Given the description of an element on the screen output the (x, y) to click on. 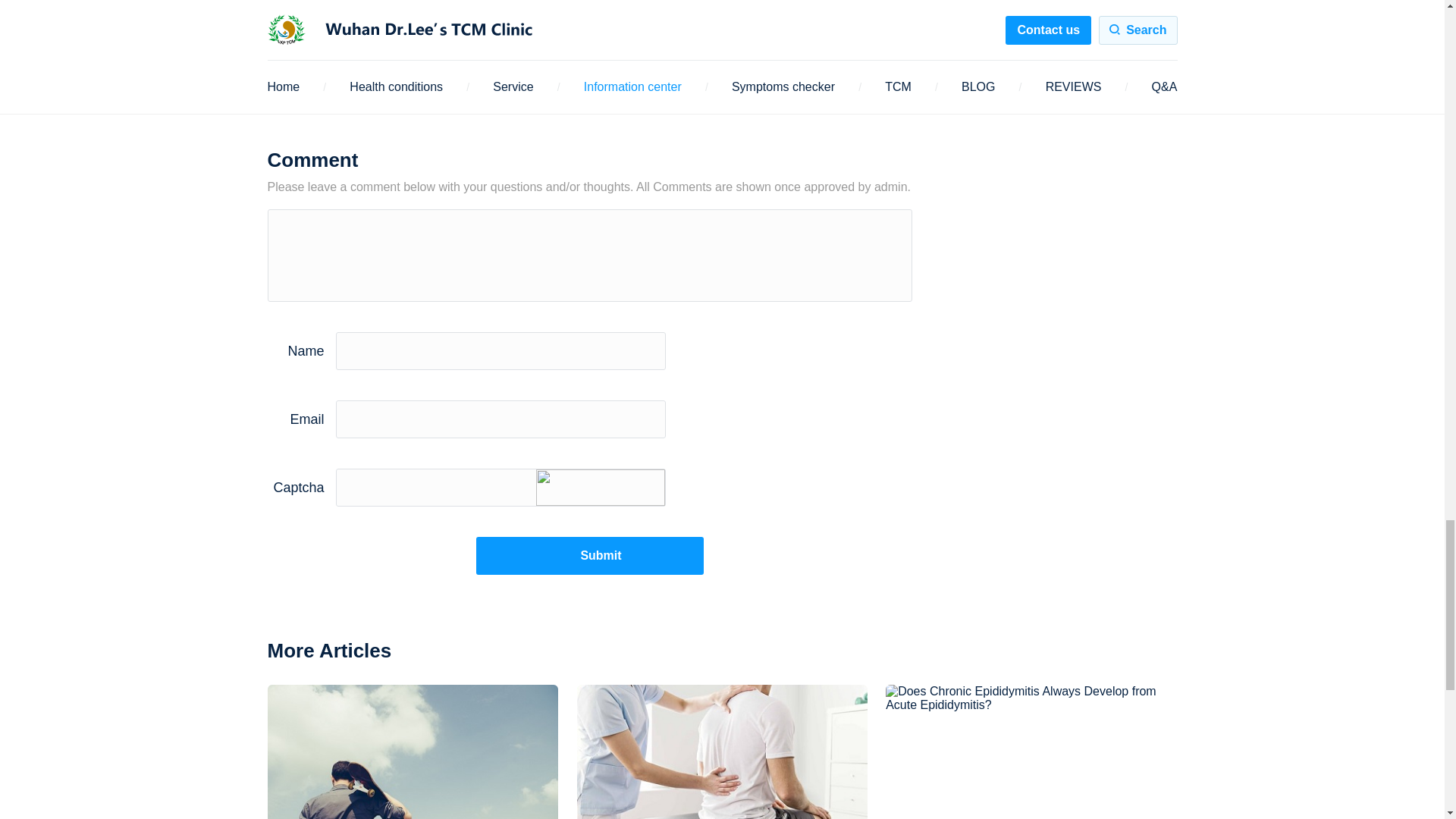
Can Epididymitis Lead to Testicular Necrosis? (412, 751)
Is It Difficult to Cure Epididymitis With Hard Lumps? (721, 751)
